Given the description of an element on the screen output the (x, y) to click on. 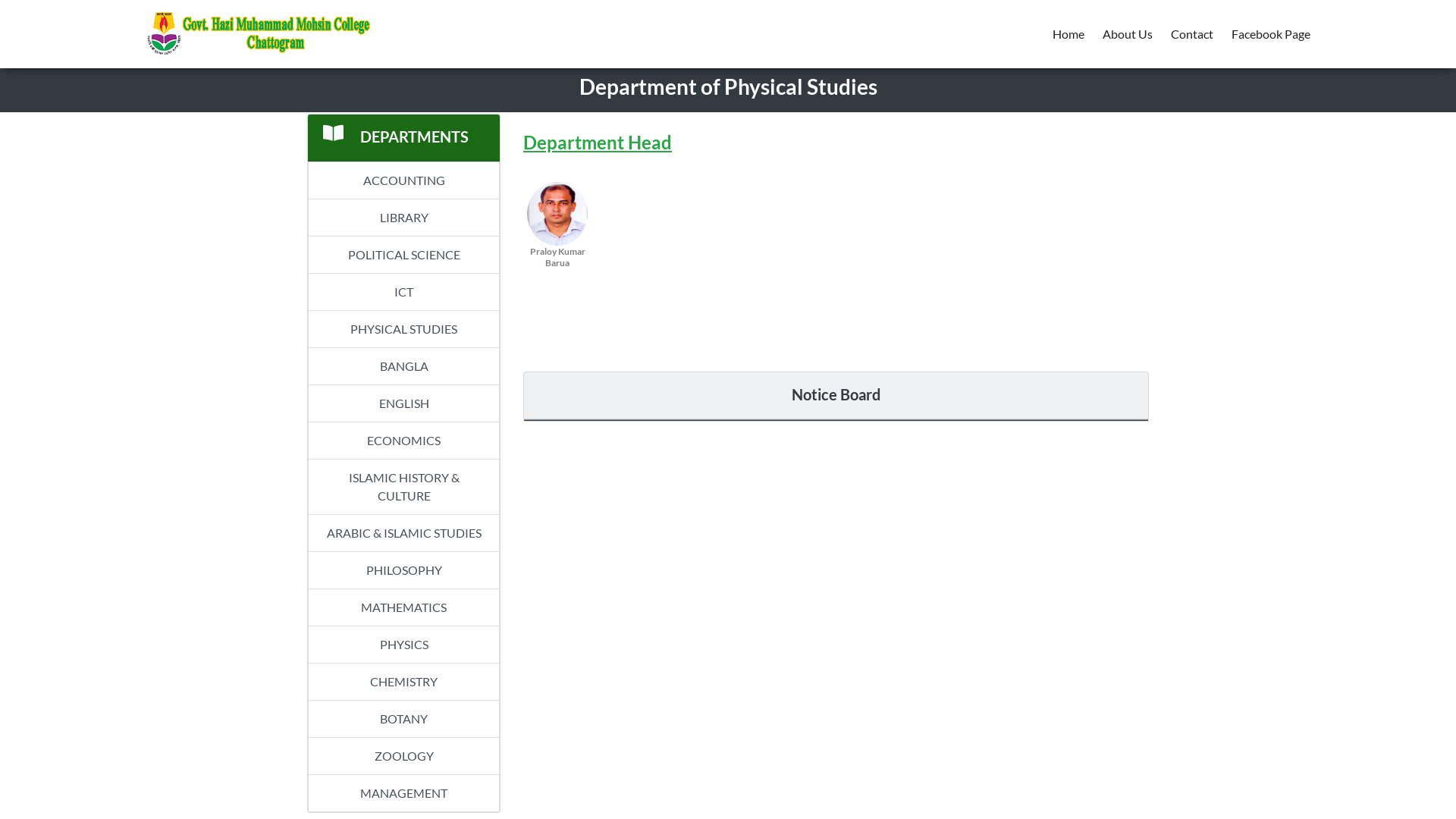
ARABIC & ISLAMIC STUDIES Element type: text (403, 533)
PHYSICS Element type: text (403, 644)
BANGLA Element type: text (403, 366)
ECONOMICS Element type: text (403, 440)
Praloy Kumar Barua Element type: text (557, 229)
ENGLISH Element type: text (403, 403)
ISLAMIC HISTORY & CULTURE Element type: text (403, 486)
PHILOSOPHY Element type: text (403, 570)
About Us Element type: text (1127, 34)
POLITICAL SCIENCE Element type: text (403, 254)
ACCOUNTING Element type: text (403, 180)
Facebook Page Element type: text (1270, 34)
LIBRARY Element type: text (403, 217)
CHEMISTRY Element type: text (403, 681)
Home Element type: text (1068, 34)
ICT Element type: text (403, 291)
BOTANY Element type: text (403, 718)
Contact Element type: text (1191, 34)
MANAGEMENT Element type: text (403, 793)
MATHEMATICS Element type: text (403, 607)
ZOOLOGY Element type: text (403, 756)
PHYSICAL STUDIES Element type: text (403, 329)
